Given the description of an element on the screen output the (x, y) to click on. 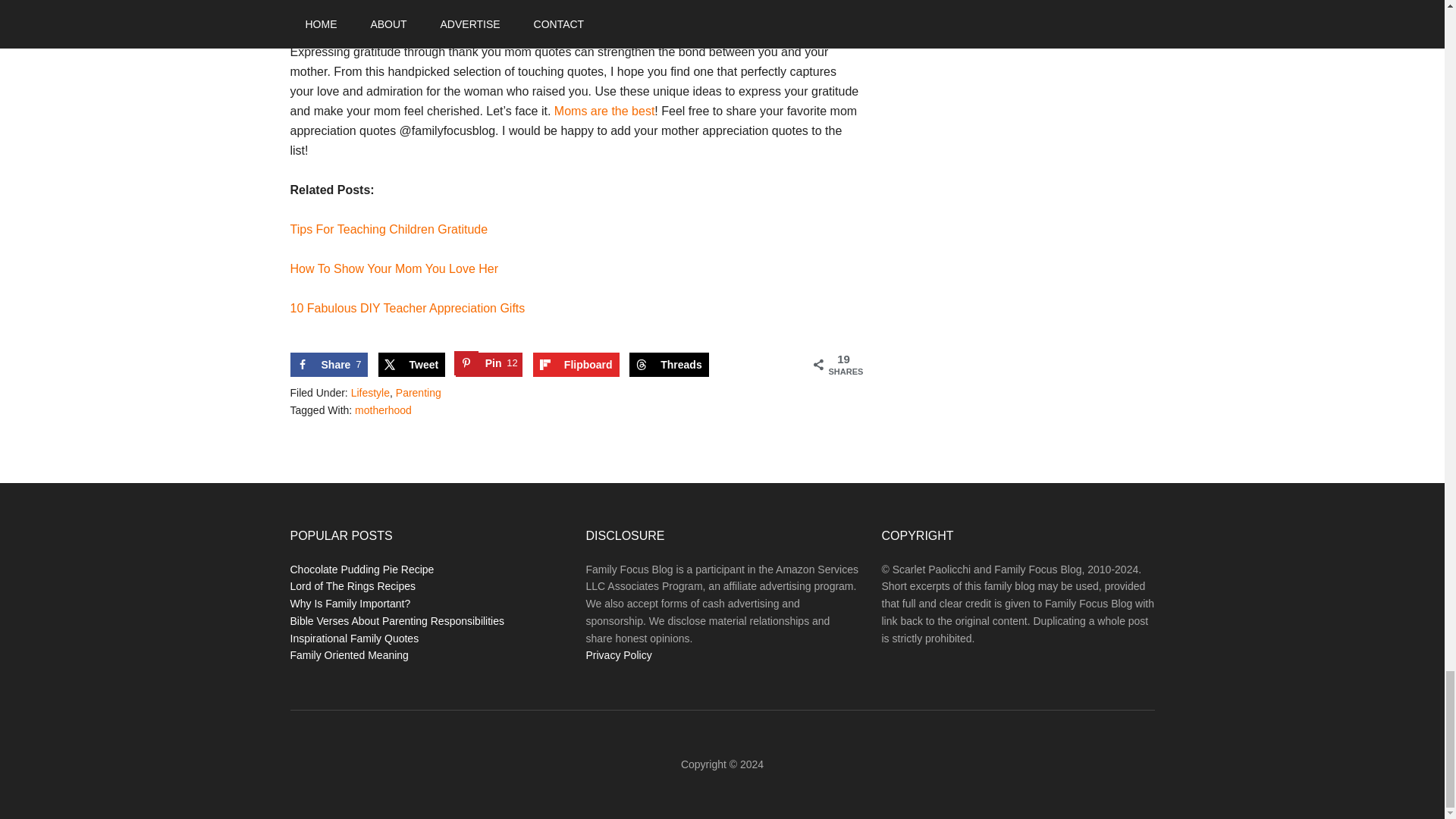
Save to Pinterest (488, 364)
Share on Flipboard (576, 364)
Moms are the best (604, 110)
How To Show Your Mom You Love Her (327, 364)
Share on Threads (393, 268)
10 Fabulous DIY Teacher Appreciation Gifts (667, 364)
Share on X (406, 308)
Share on Facebook (411, 364)
Tips For Teaching Children Gratitude (327, 364)
